Given the description of an element on the screen output the (x, y) to click on. 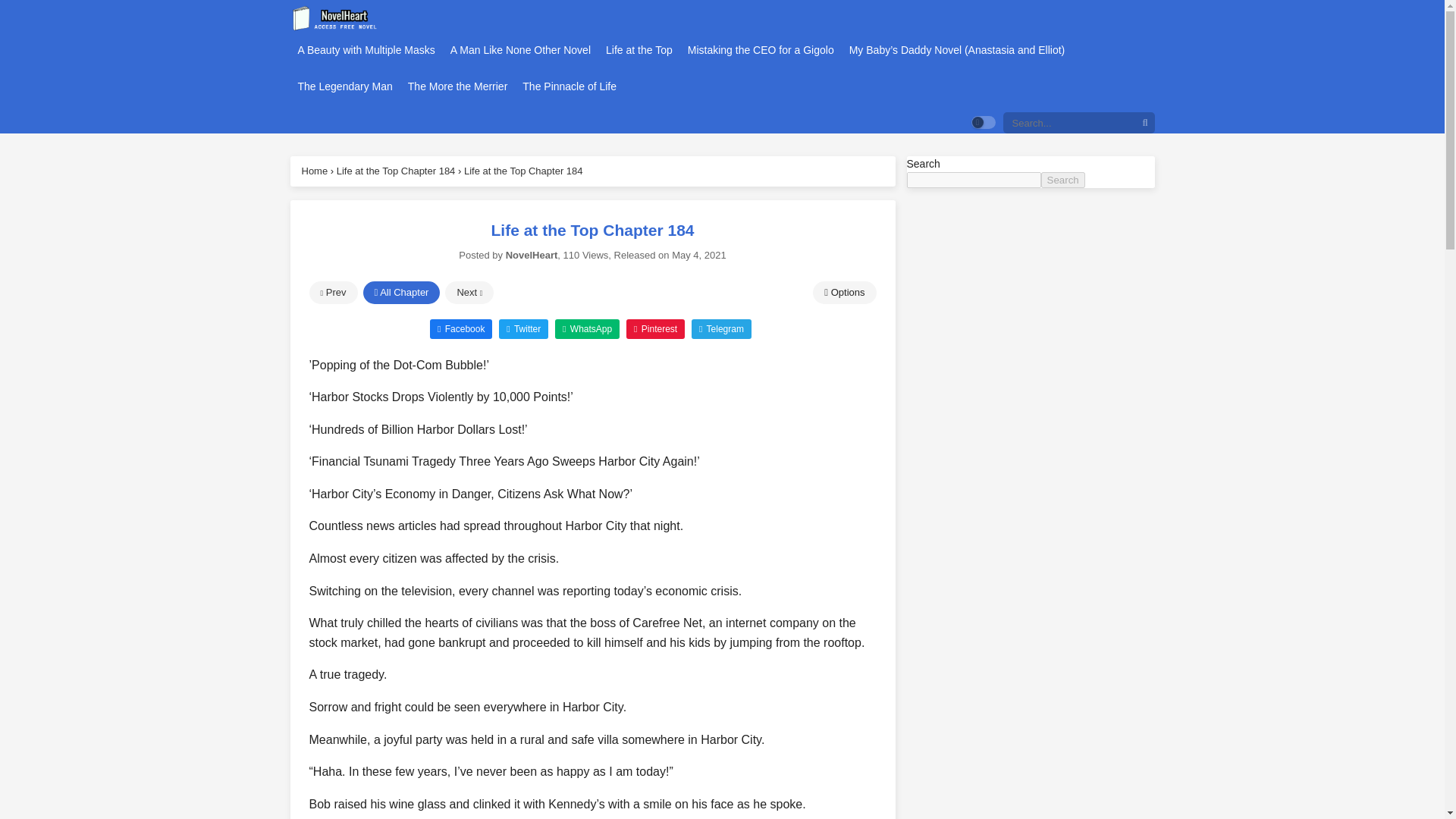
Home (315, 170)
Life at the Top (639, 49)
Life at the Top Chapter 184 (523, 170)
Pinterest (655, 328)
Life at the Top Chapter 184 (395, 170)
Search (1062, 179)
Twitter (523, 328)
A Man Like None Other Novel (520, 49)
NovelHeart - Read online free Novel (335, 17)
The More the Merrier (457, 85)
